Given the description of an element on the screen output the (x, y) to click on. 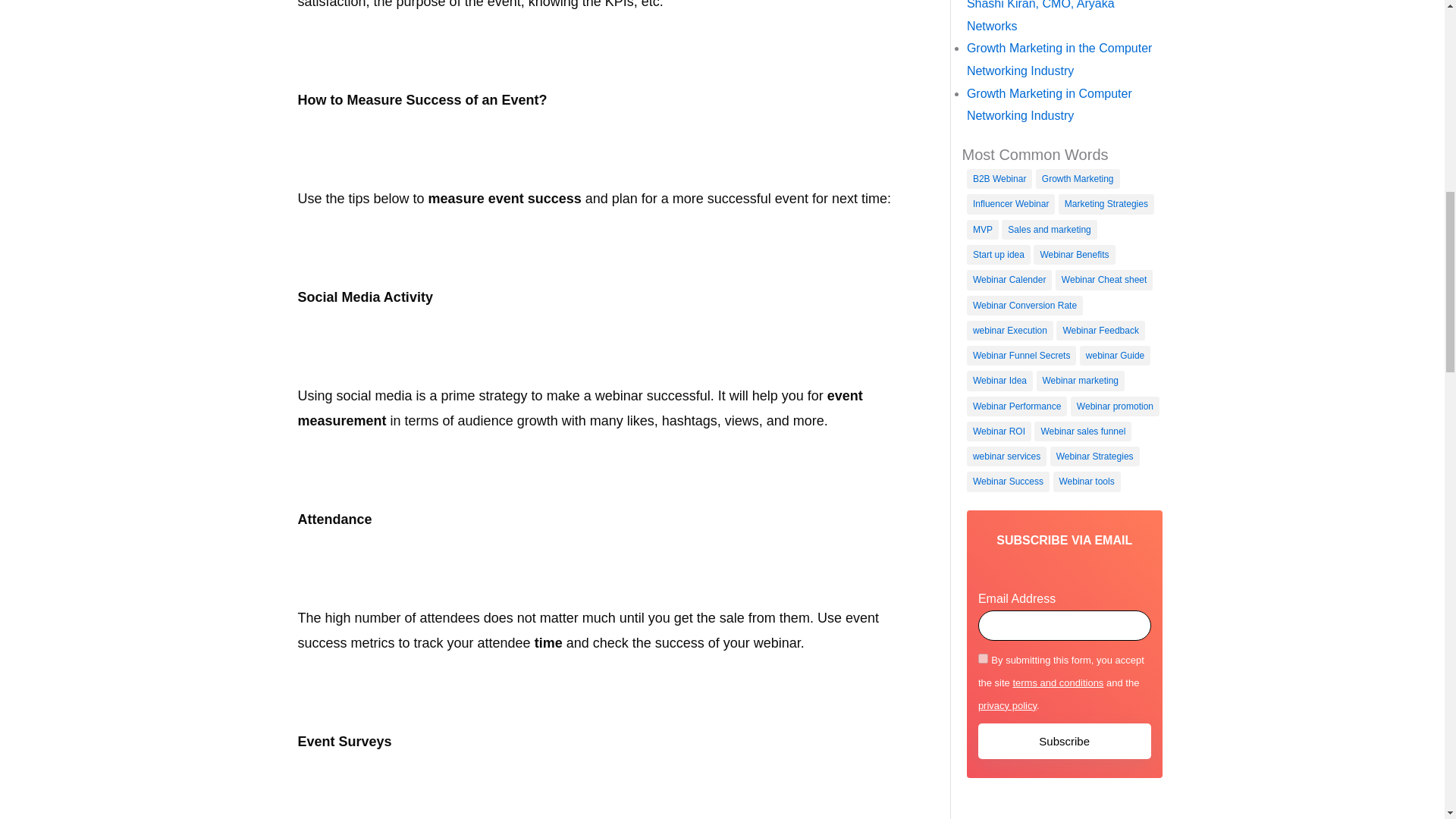
on (983, 658)
